Given the description of an element on the screen output the (x, y) to click on. 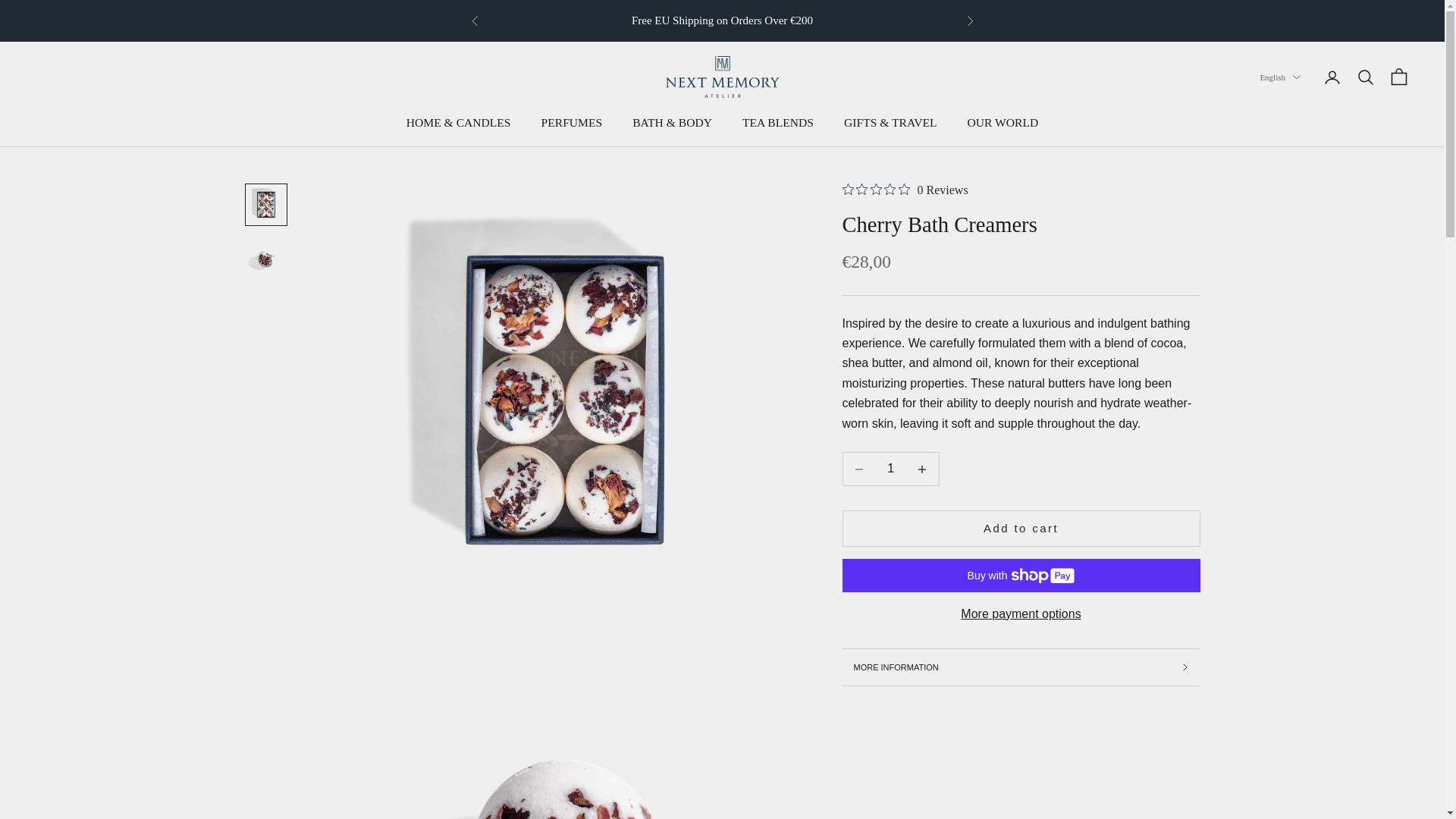
0 Reviews (904, 190)
NEXT MEMORY (721, 77)
1 (890, 468)
